Given the description of an element on the screen output the (x, y) to click on. 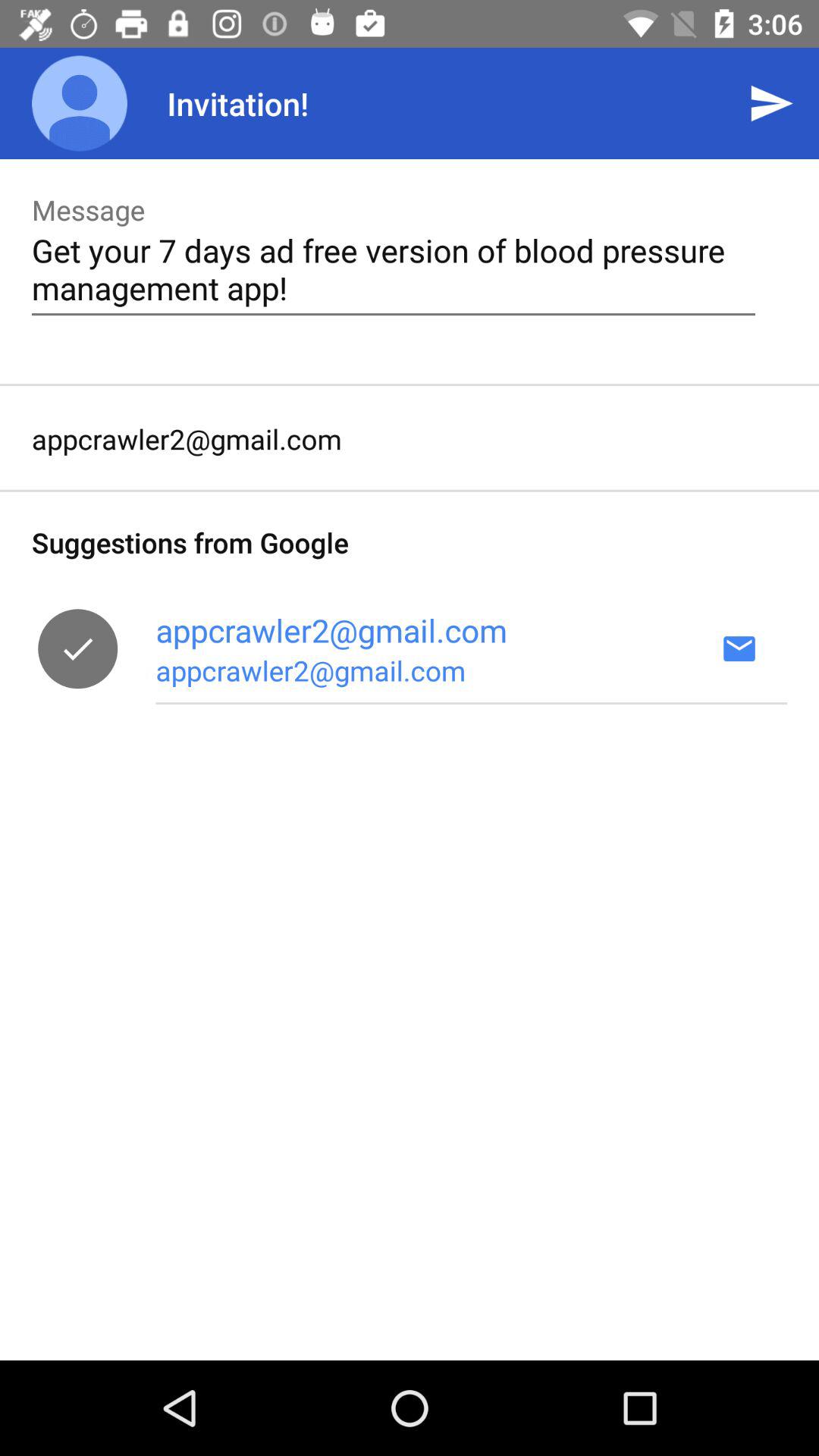
turn on the icon above message (79, 103)
